Given the description of an element on the screen output the (x, y) to click on. 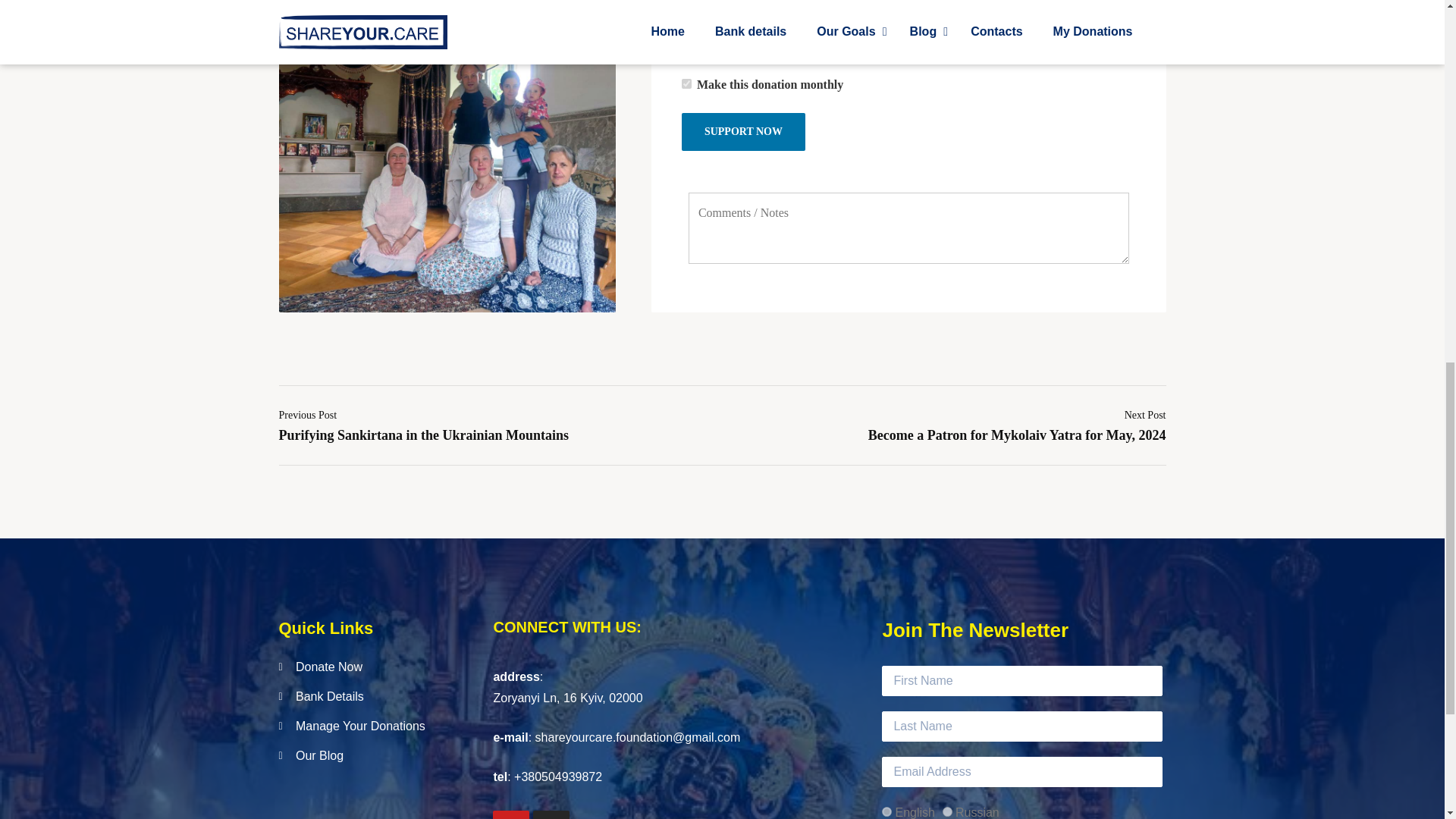
Russian (947, 811)
on (686, 83)
English (886, 811)
